Given the description of an element on the screen output the (x, y) to click on. 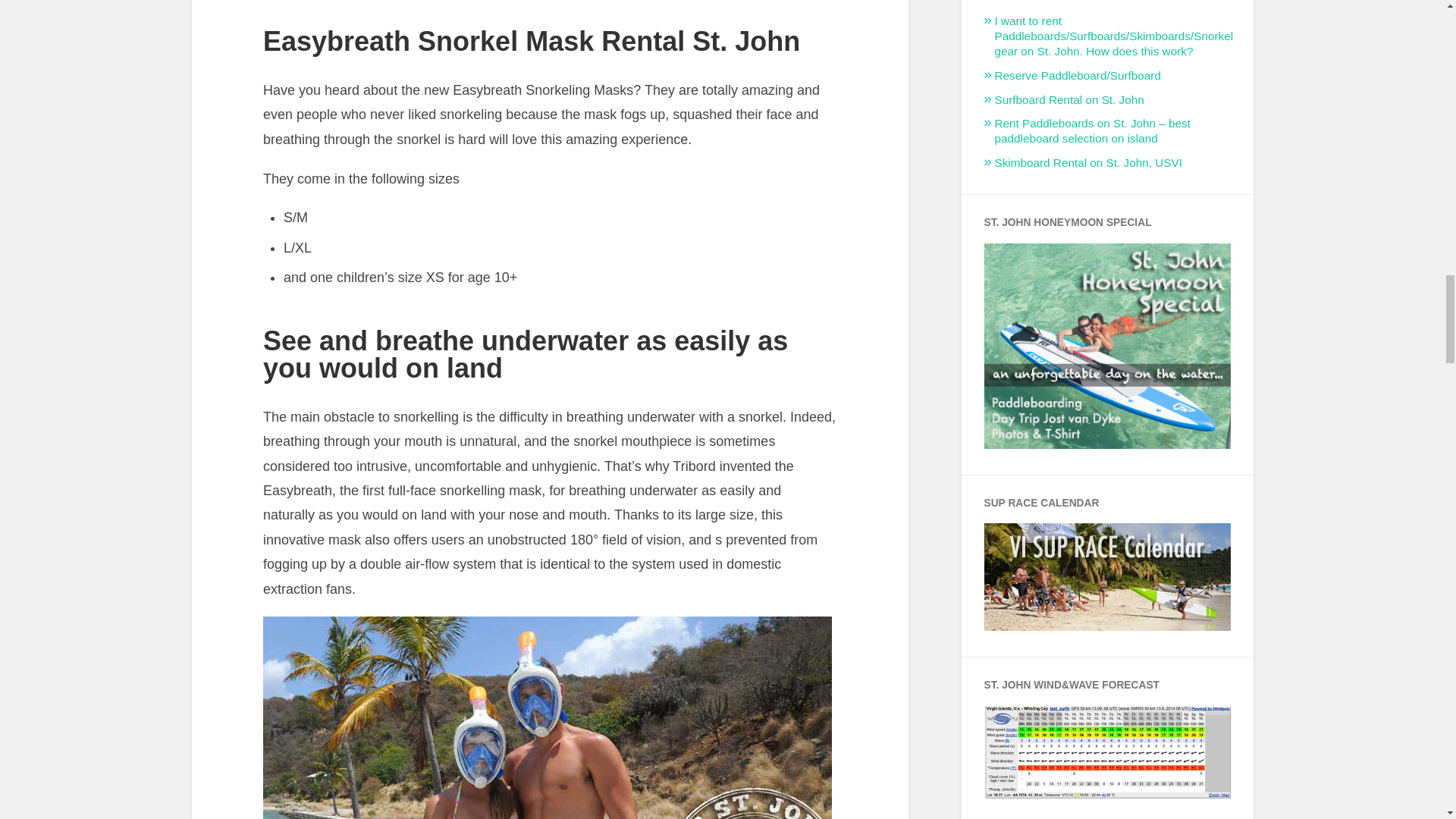
St. John Honeymoon Special (1107, 444)
St John, VIRGIN ISLANDS Weather Forecast (1107, 793)
